Given the description of an element on the screen output the (x, y) to click on. 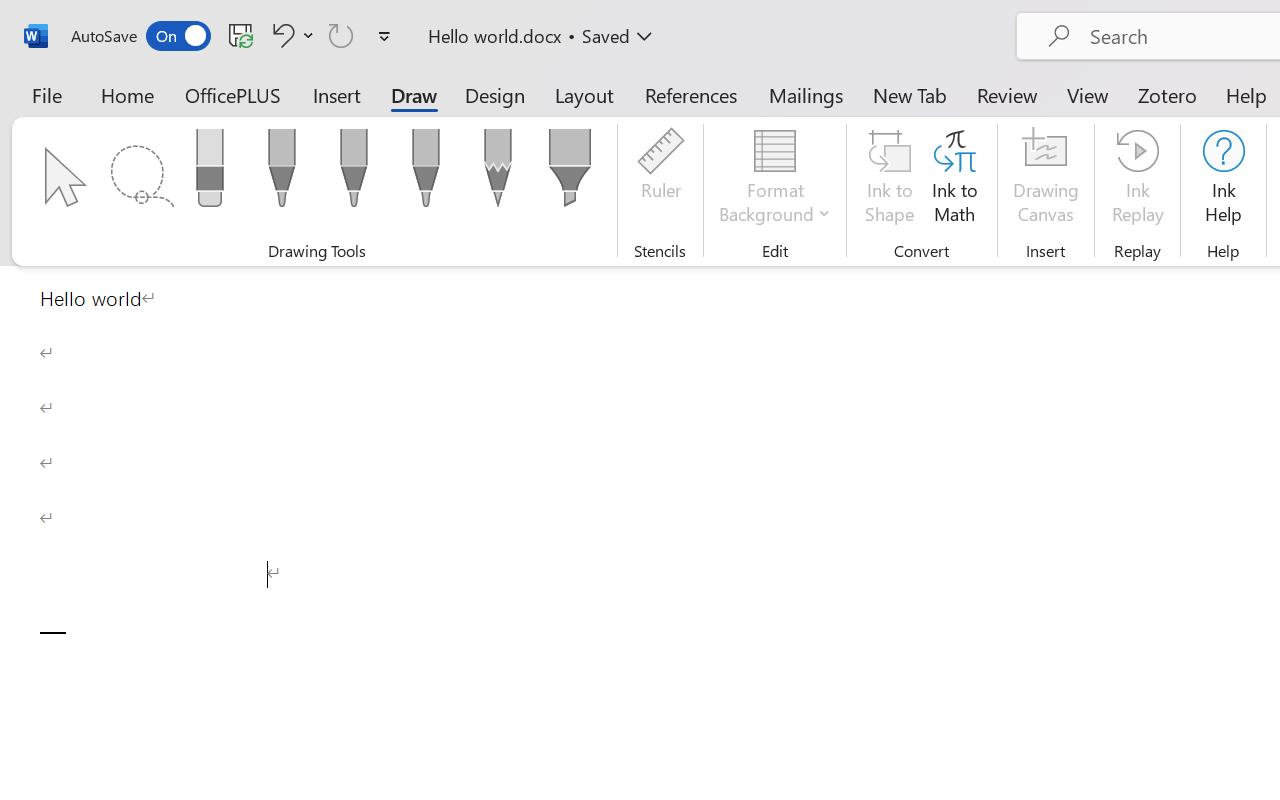
Drawing Canvas (1045, 179)
Mailings (806, 94)
Ink to Shape (889, 179)
References (690, 94)
Ruler (660, 179)
Save (241, 35)
Ink Replay (1137, 179)
OfficePLUS (233, 94)
View (1087, 94)
Undo Paragraph Formatting (290, 35)
Layout (584, 94)
Ink to Math (954, 179)
Pen: Red, 0.5 mm (353, 173)
